Given the description of an element on the screen output the (x, y) to click on. 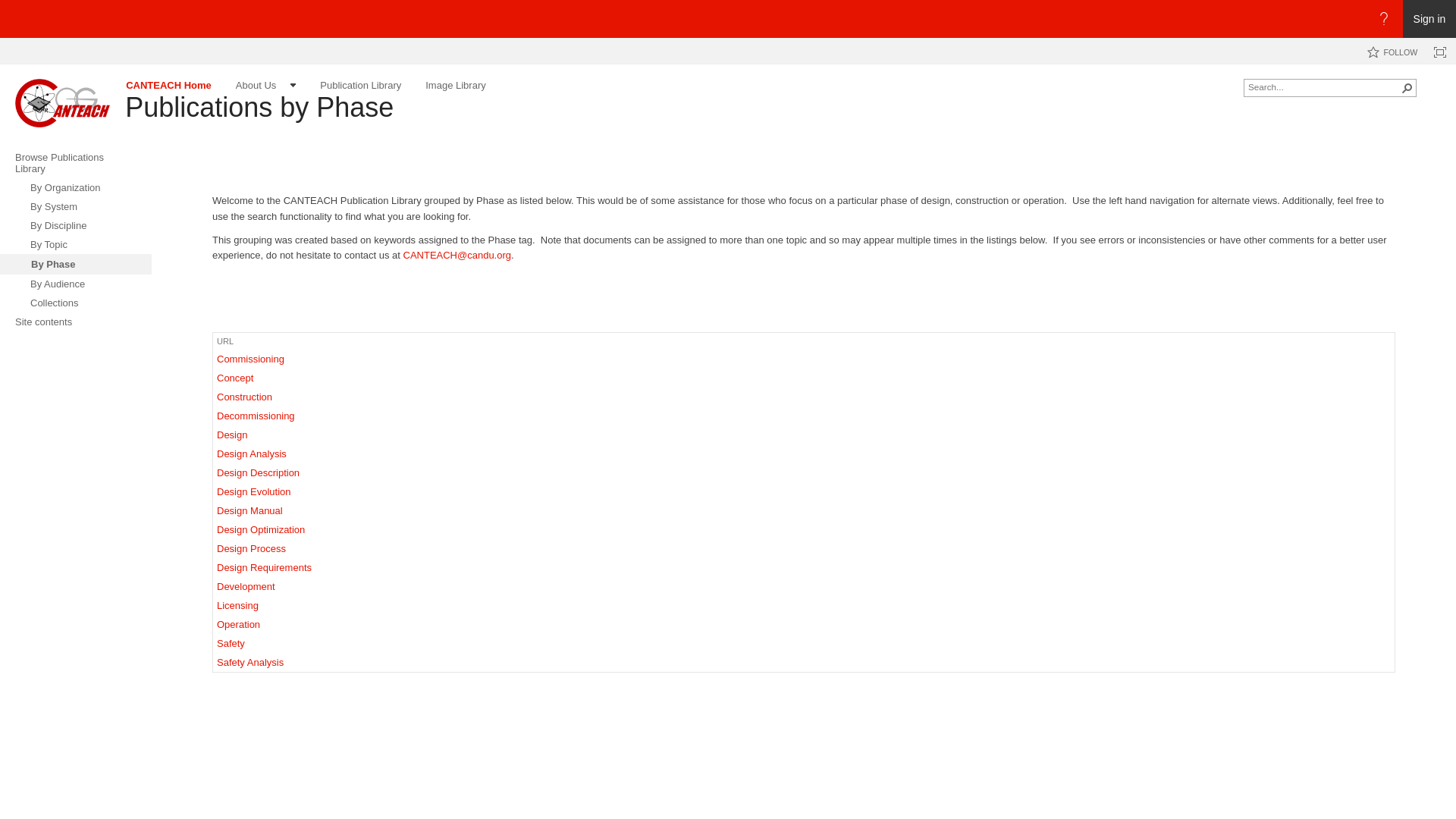
Publication Library (359, 84)
By Organization (75, 187)
FOLLOW (1391, 52)
URL, Click to sort by URL (224, 340)
Publications by Phase (259, 106)
Search (1407, 87)
By Discipline (75, 225)
Collections (75, 302)
Browse Publications Library (75, 163)
By Audience (75, 283)
CANTEACH Home (62, 102)
Open URL sort and filter menu (222, 349)
Search... (1323, 86)
Focus on Content (1439, 51)
Search... (1323, 86)
